Given the description of an element on the screen output the (x, y) to click on. 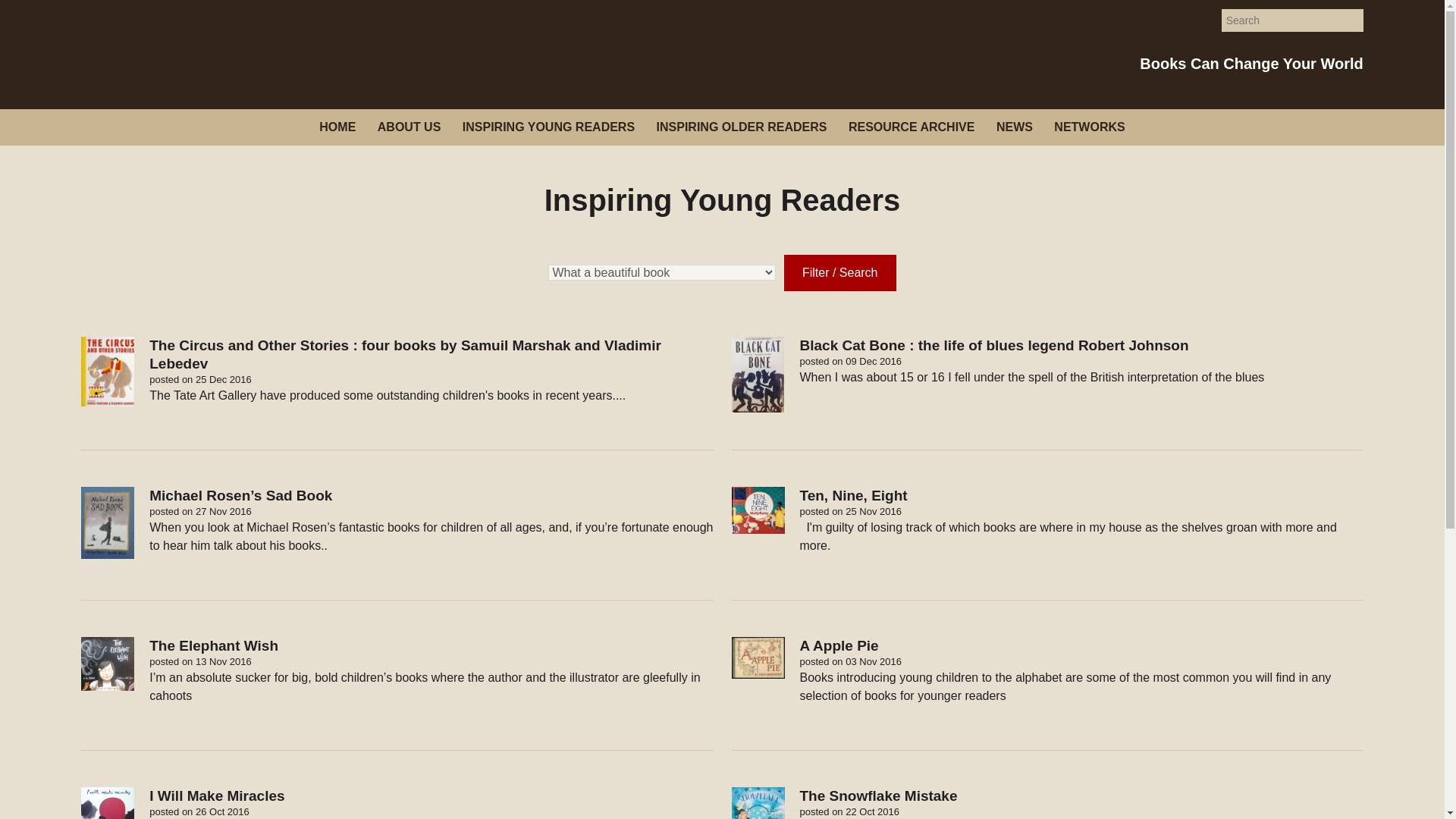
NEWS (1014, 126)
Link to A Apple Pie  (1046, 694)
Link to Inspiring Older Readers page (741, 126)
Link to The Elephant Wish (397, 694)
Link to Networks page (1089, 126)
HOME (337, 126)
ABOUT US (408, 126)
Link to Home page (337, 126)
